Given the description of an element on the screen output the (x, y) to click on. 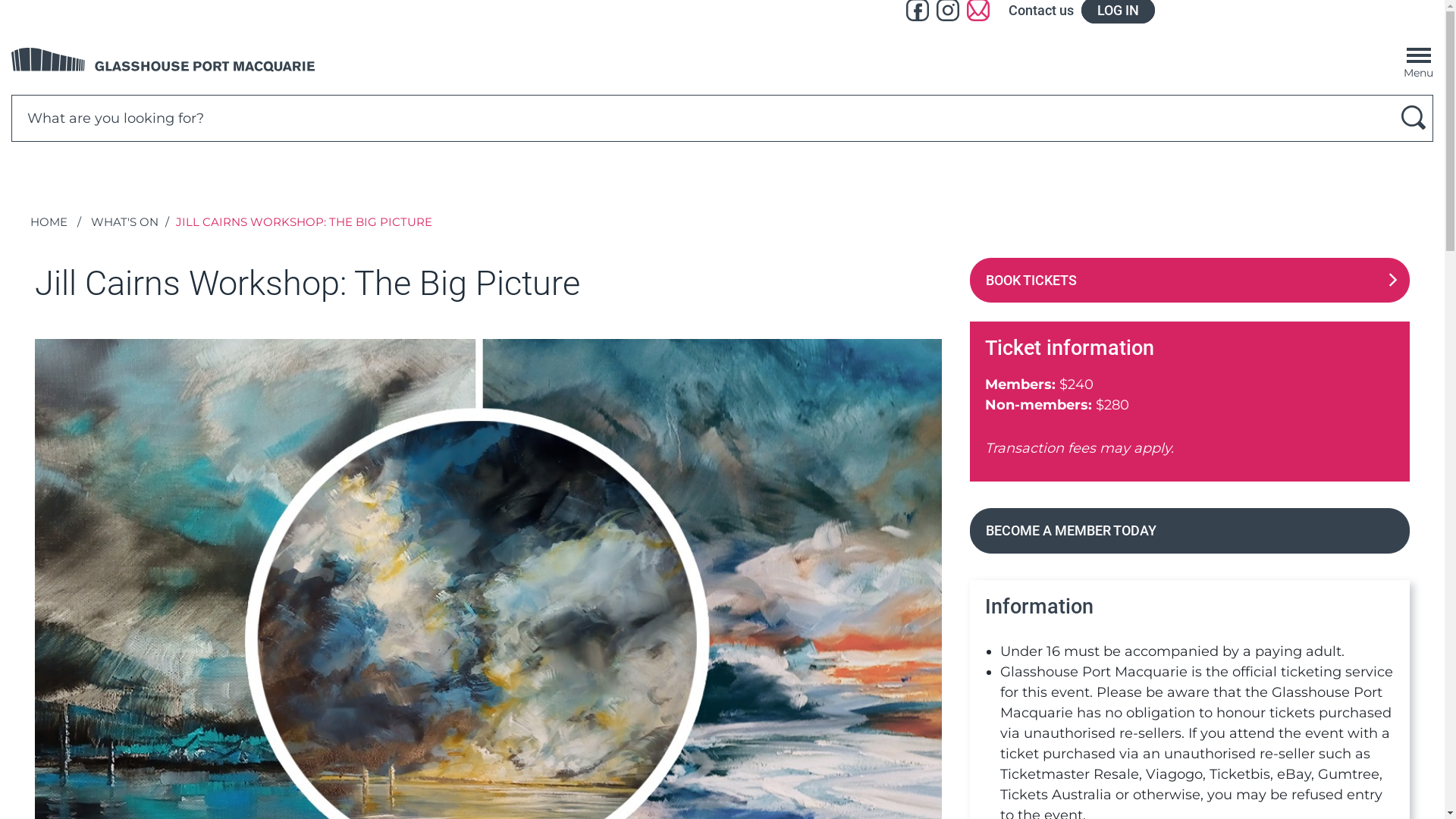
BOOK TICKETS Element type: text (1189, 279)
HOME Element type: text (48, 221)
Newsletter Element type: text (977, 10)
BECOME A MEMBER TODAY Element type: text (1189, 530)
Search Element type: text (1413, 118)
Home - Glasshouse Port Macquarie - Logo Element type: text (162, 59)
Instagram Element type: text (946, 10)
WHAT'S ON Element type: text (124, 221)
Contact us Element type: text (1040, 10)
Facebook Element type: text (916, 10)
Menu Element type: text (1418, 57)
